Given the description of an element on the screen output the (x, y) to click on. 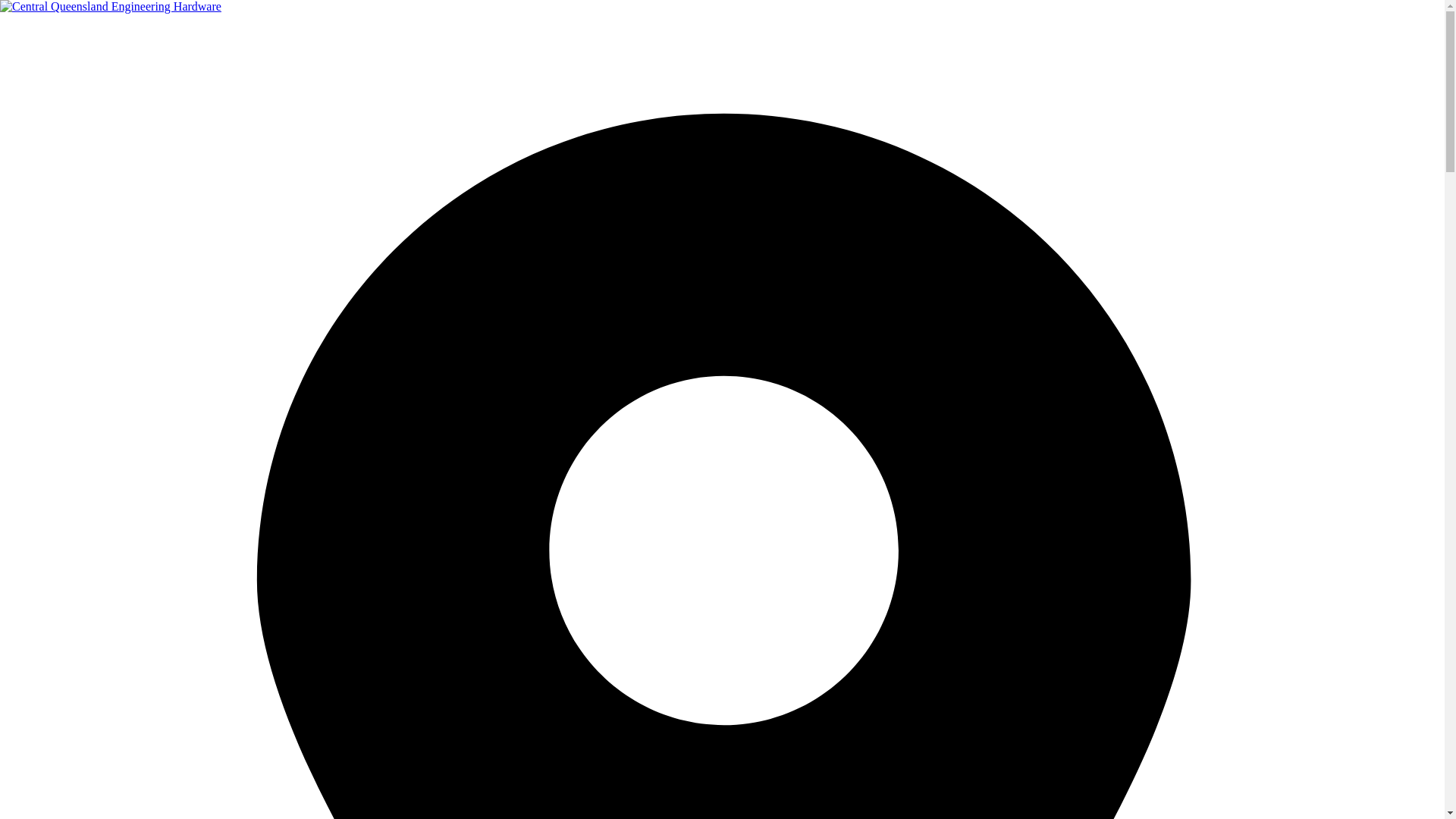
Central Queensland Engineering Hardware Element type: hover (110, 6)
